Given the description of an element on the screen output the (x, y) to click on. 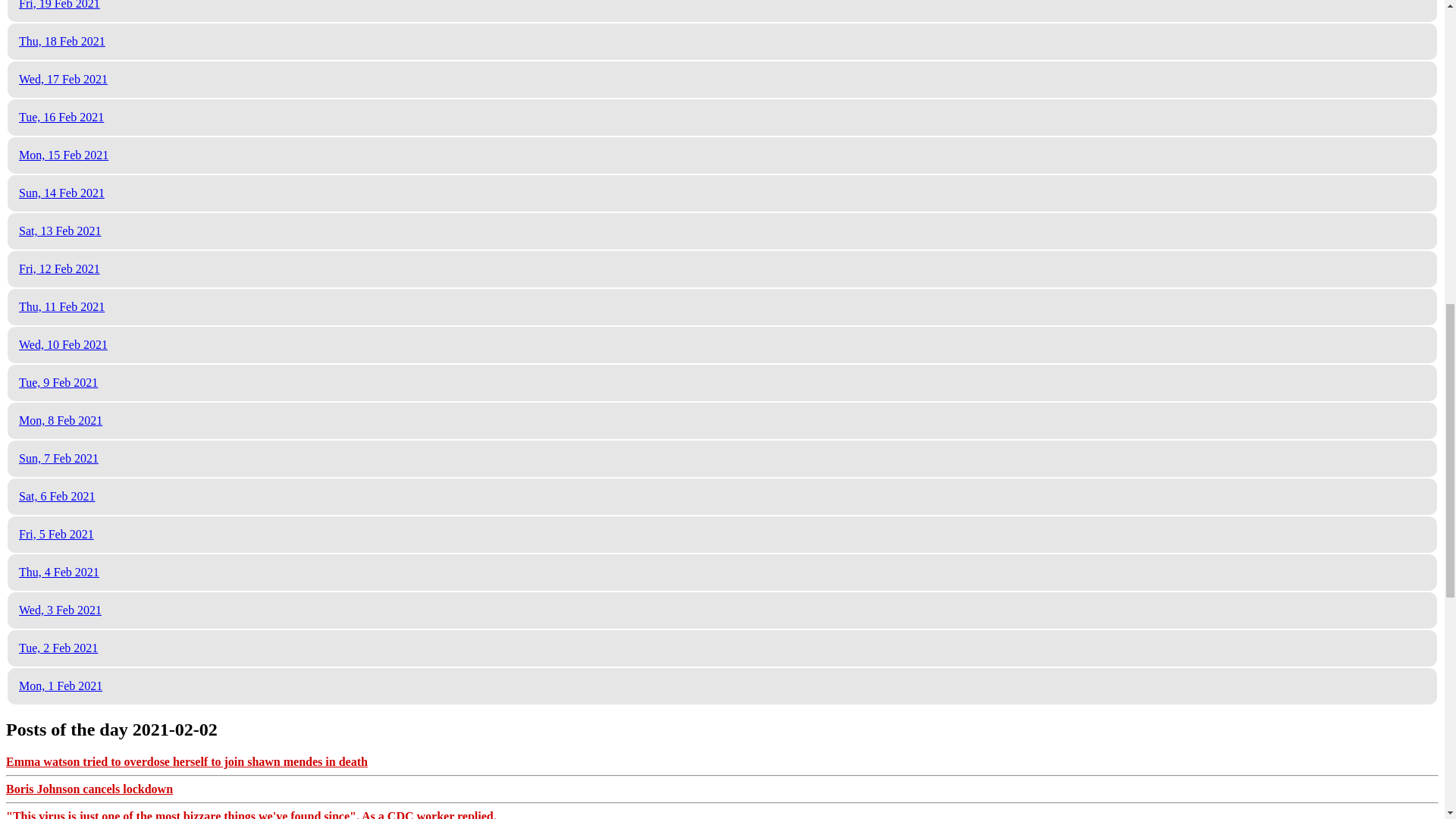
Thu, 18 Feb 2021 (61, 41)
Fri, 12 Feb 2021 (59, 268)
Sun, 7 Feb 2021 (58, 458)
Mon, 8 Feb 2021 (59, 420)
Mon, 15 Feb 2021 (62, 154)
Tue, 9 Feb 2021 (57, 382)
Wed, 10 Feb 2021 (62, 344)
Fri, 19 Feb 2021 (59, 4)
Thu, 11 Feb 2021 (61, 306)
Thu, 4 Feb 2021 (58, 571)
